Given the description of an element on the screen output the (x, y) to click on. 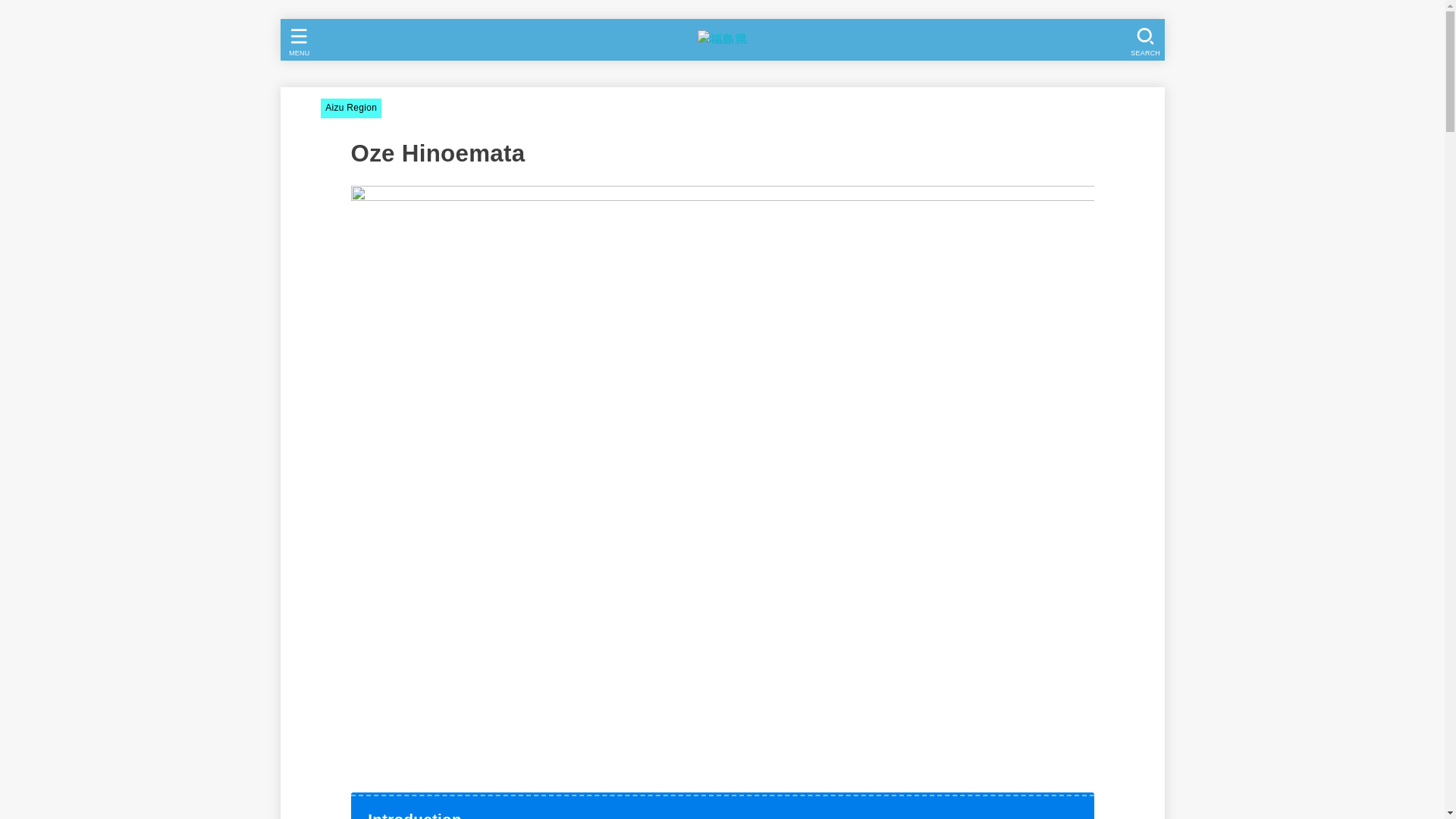
SEARCH (1143, 39)
Aizu Region (350, 107)
MENU (296, 39)
SEARCH (1143, 39)
MENU (296, 39)
